Given the description of an element on the screen output the (x, y) to click on. 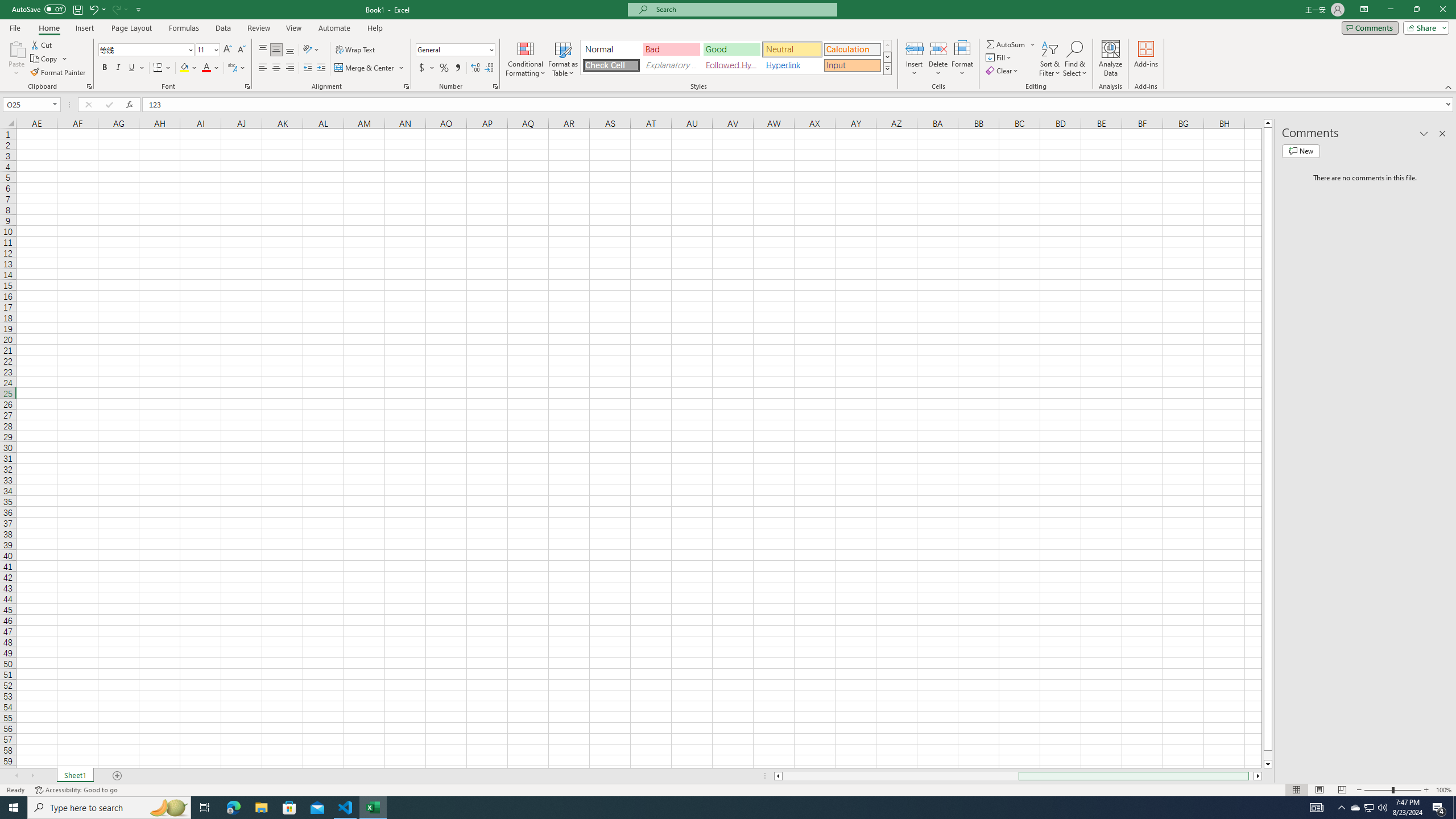
Sum (1006, 44)
Page left (901, 775)
